Given the description of an element on the screen output the (x, y) to click on. 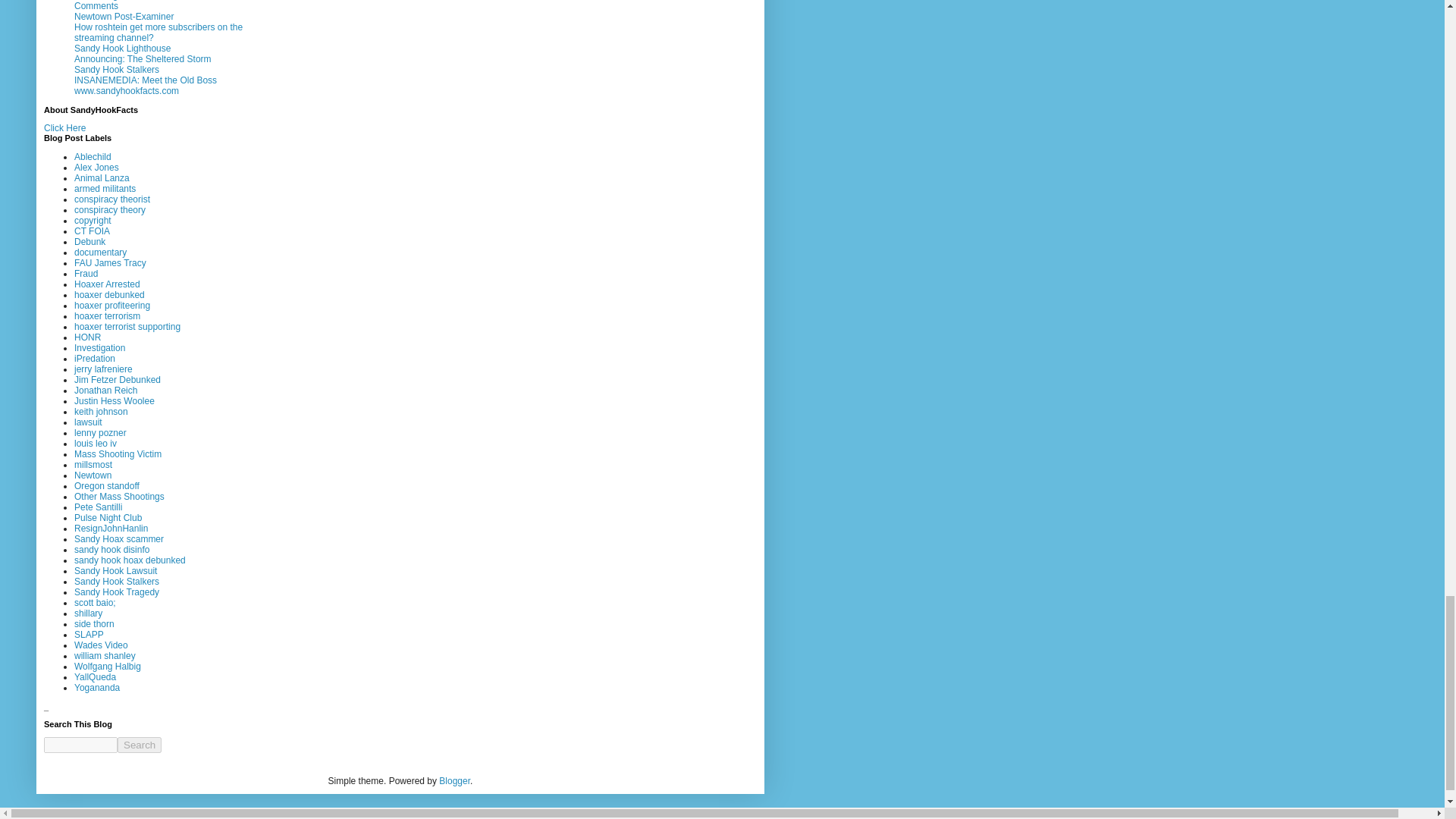
search (80, 744)
search (139, 744)
Search (139, 744)
Search (139, 744)
